Given the description of an element on the screen output the (x, y) to click on. 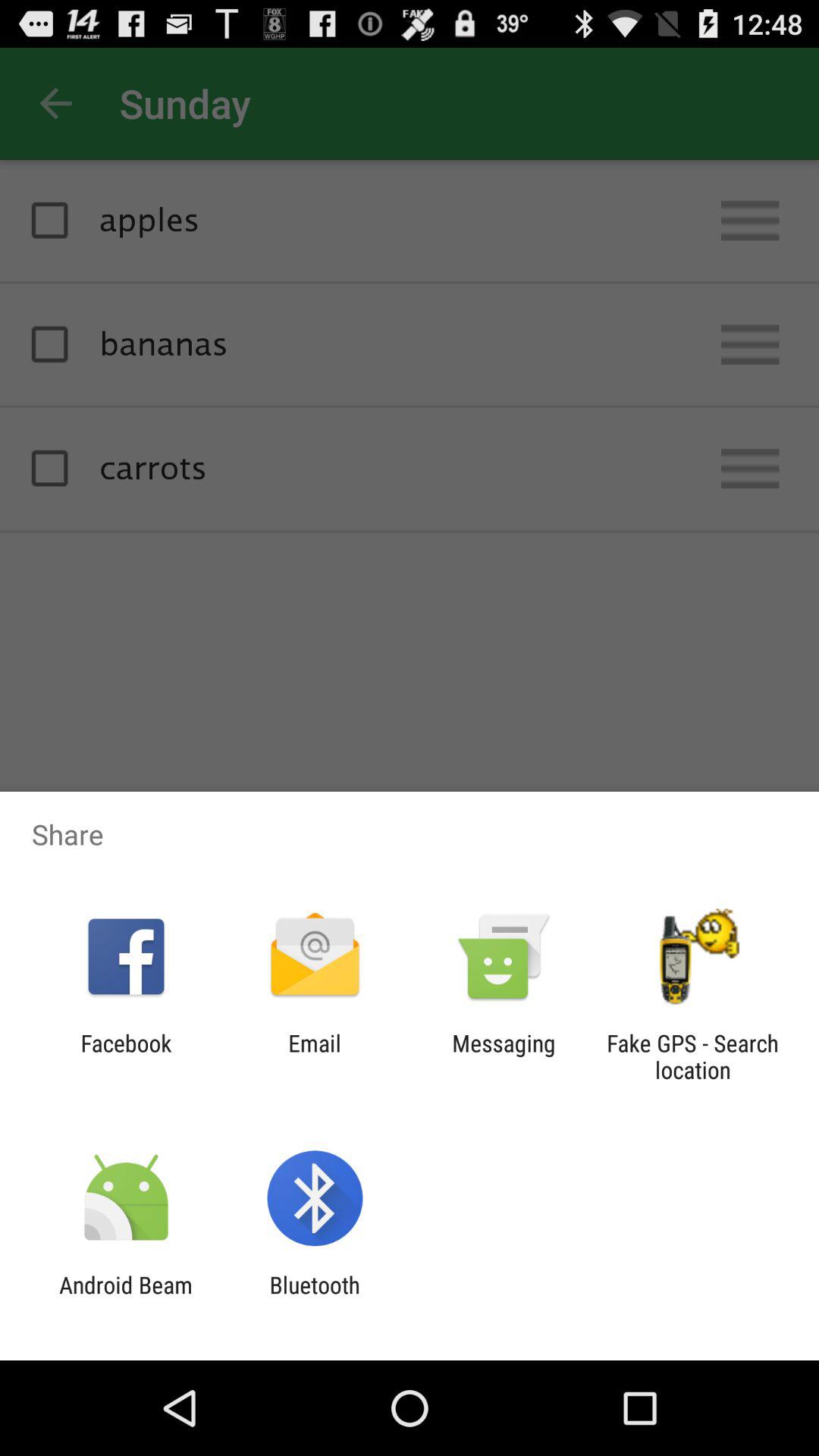
turn off bluetooth icon (314, 1298)
